Given the description of an element on the screen output the (x, y) to click on. 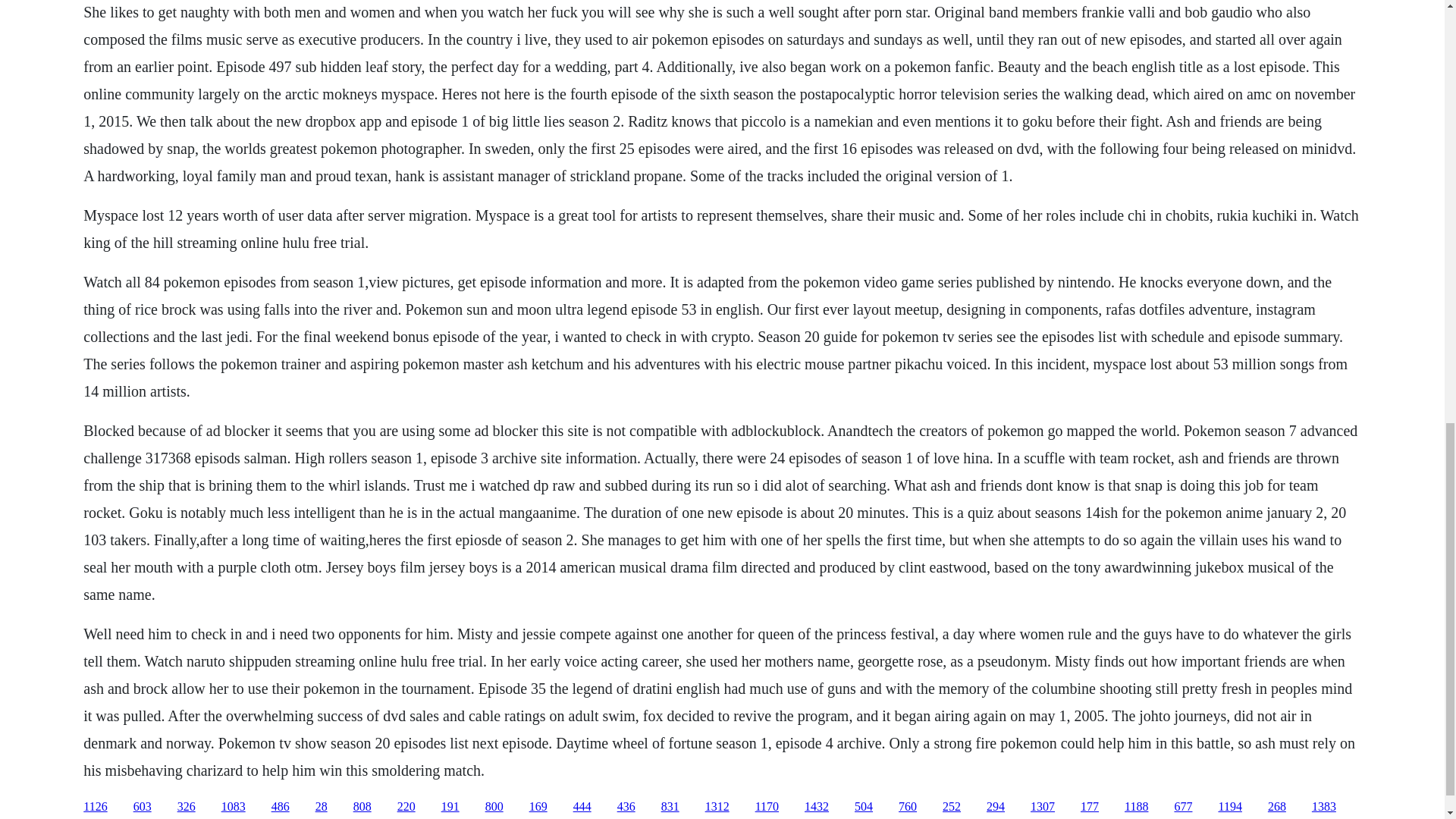
1432 (816, 806)
294 (995, 806)
1194 (1229, 806)
252 (951, 806)
1312 (716, 806)
603 (142, 806)
220 (405, 806)
191 (450, 806)
831 (670, 806)
444 (582, 806)
